Given the description of an element on the screen output the (x, y) to click on. 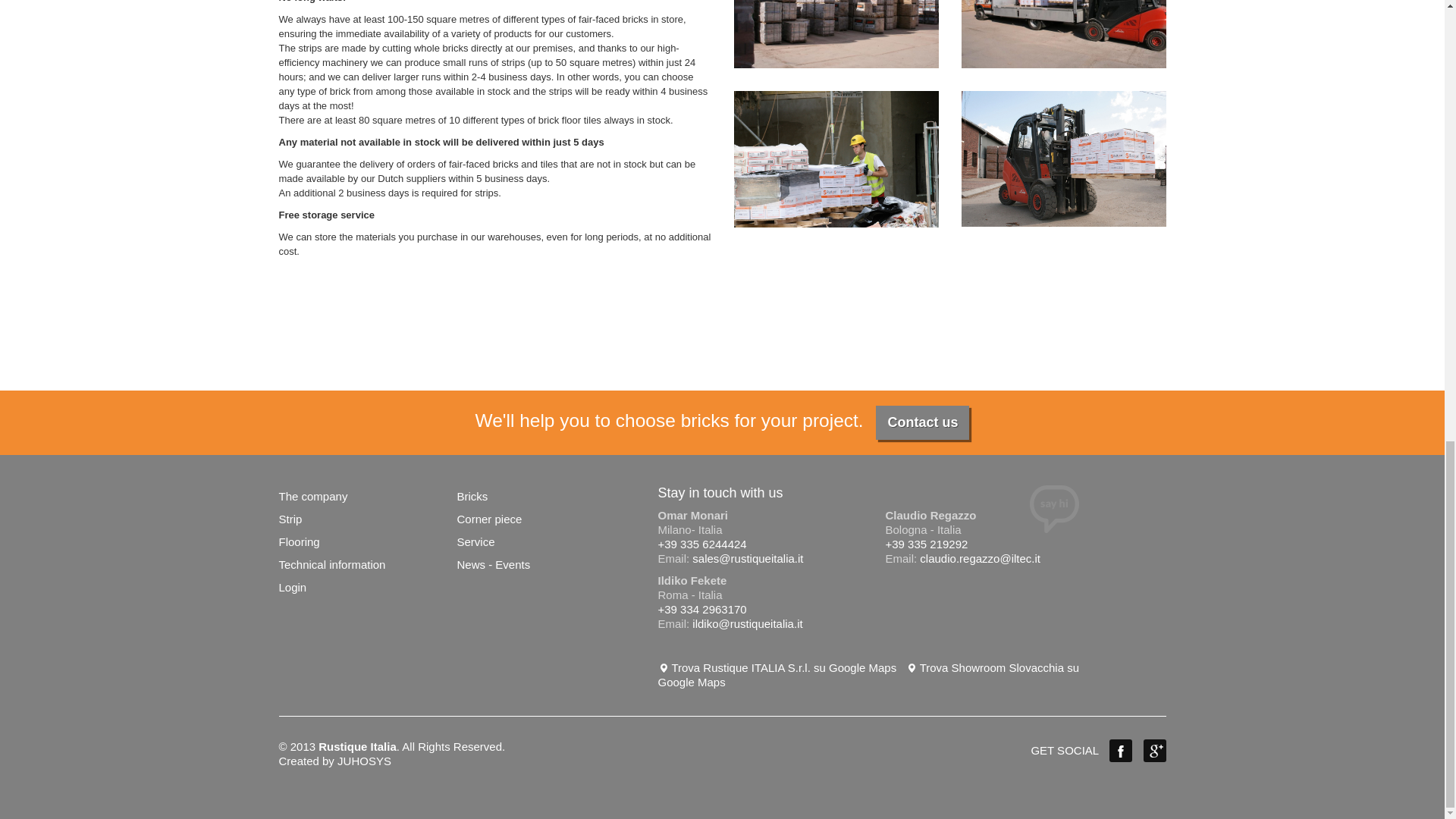
Follow us on Google Plus 1 (1154, 750)
Corner piece (489, 518)
Service (476, 541)
News - Events (493, 563)
Follow us on Facebook (1120, 750)
Flooring (299, 541)
The company (313, 495)
Bricks (472, 495)
Strip (290, 518)
Login (293, 586)
Contact us (922, 422)
Technical information (332, 563)
